Given the description of an element on the screen output the (x, y) to click on. 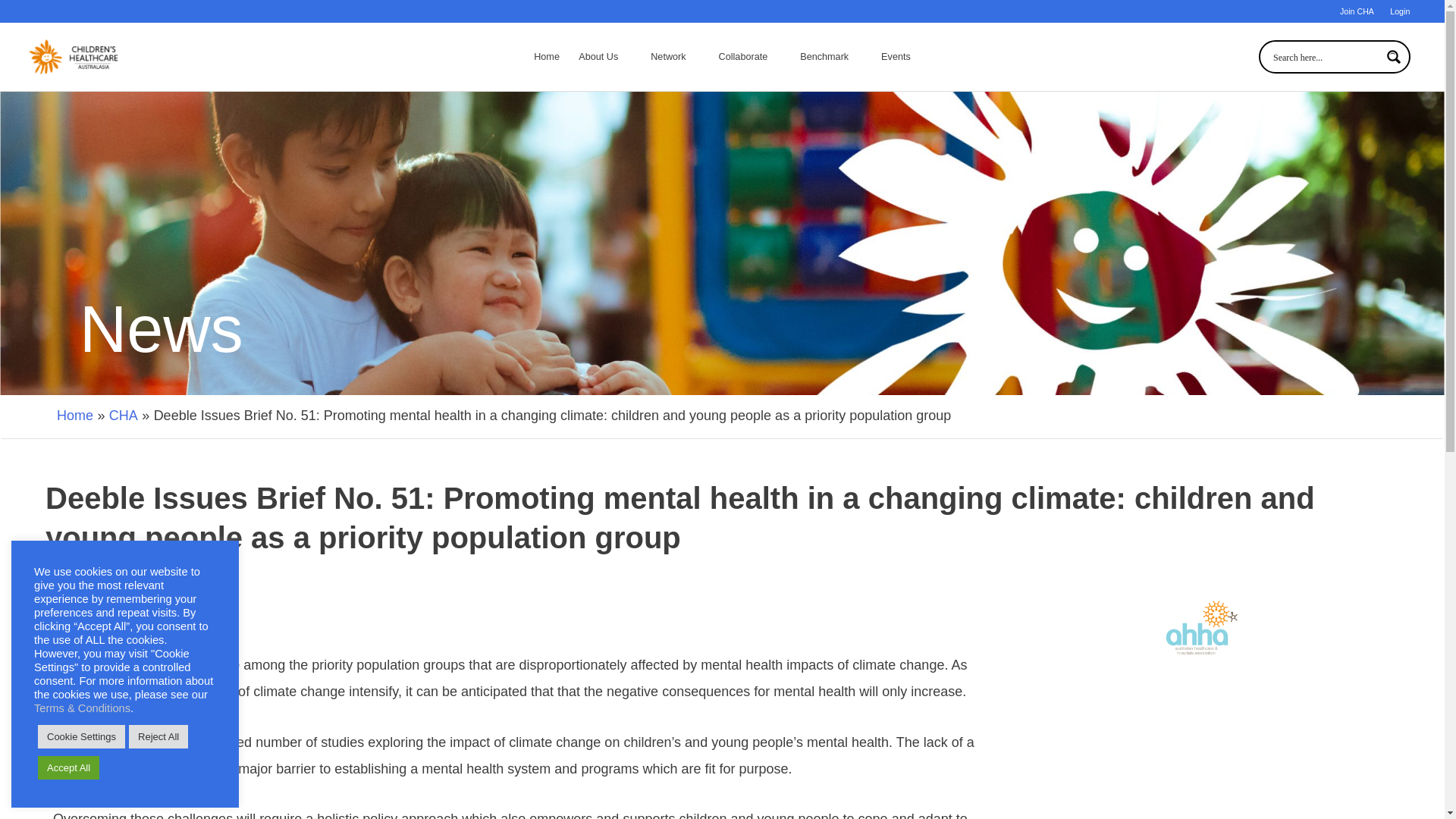
Login (1399, 15)
Join CHA (1356, 15)
About Us (605, 56)
